Given the description of an element on the screen output the (x, y) to click on. 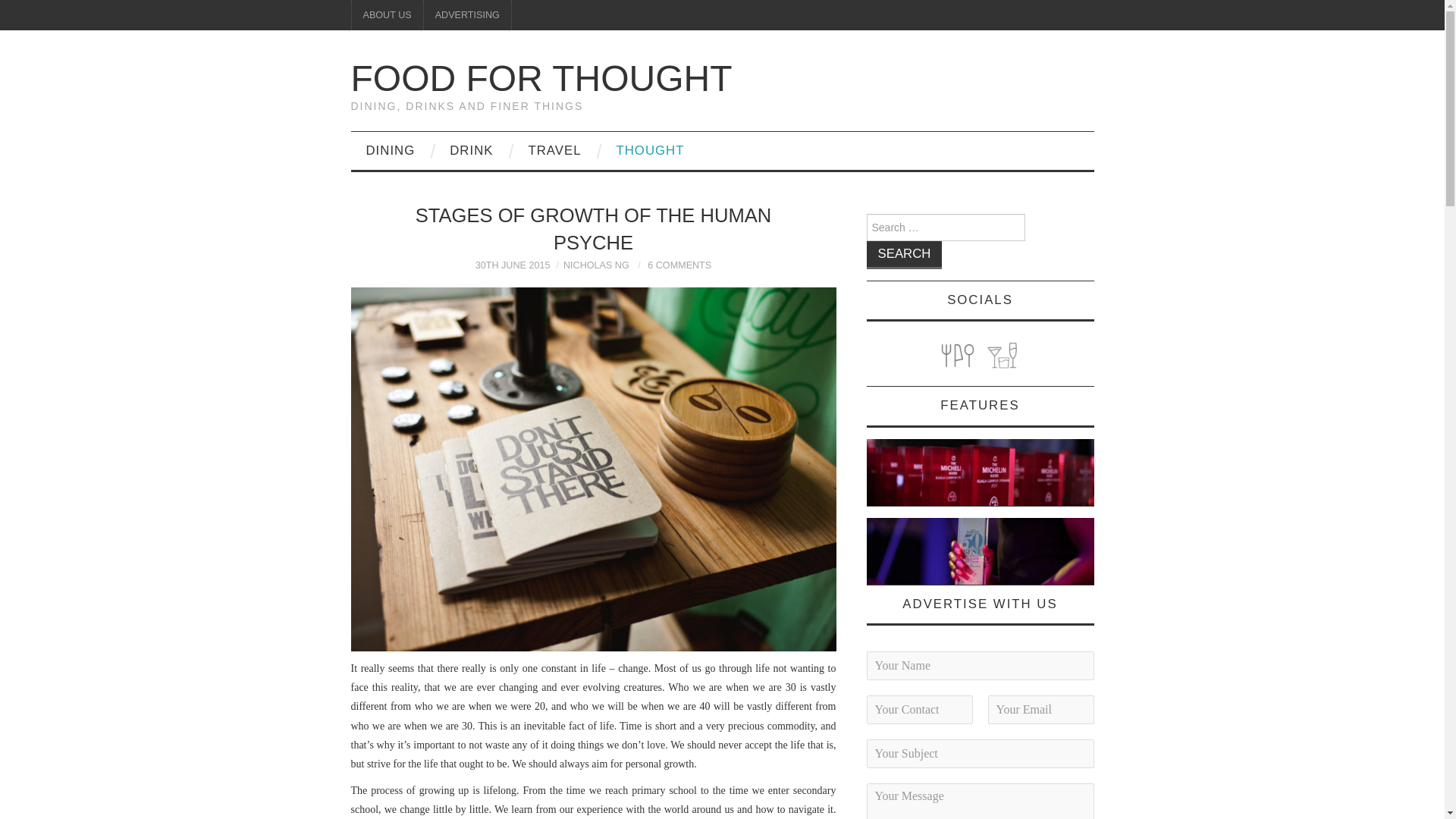
THOUGHT (648, 150)
ABOUT US (387, 15)
DRINK (470, 150)
30TH JUNE 2015 (513, 265)
Search for: (945, 226)
Food For Thought (541, 78)
6 COMMENTS (679, 265)
NICHOLAS NG (595, 265)
FOOD FOR THOUGHT (541, 78)
DINING (389, 150)
Search (904, 254)
TRAVEL (553, 150)
ADVERTISING (467, 15)
Search (904, 254)
Feature Interviews (979, 550)
